Given the description of an element on the screen output the (x, y) to click on. 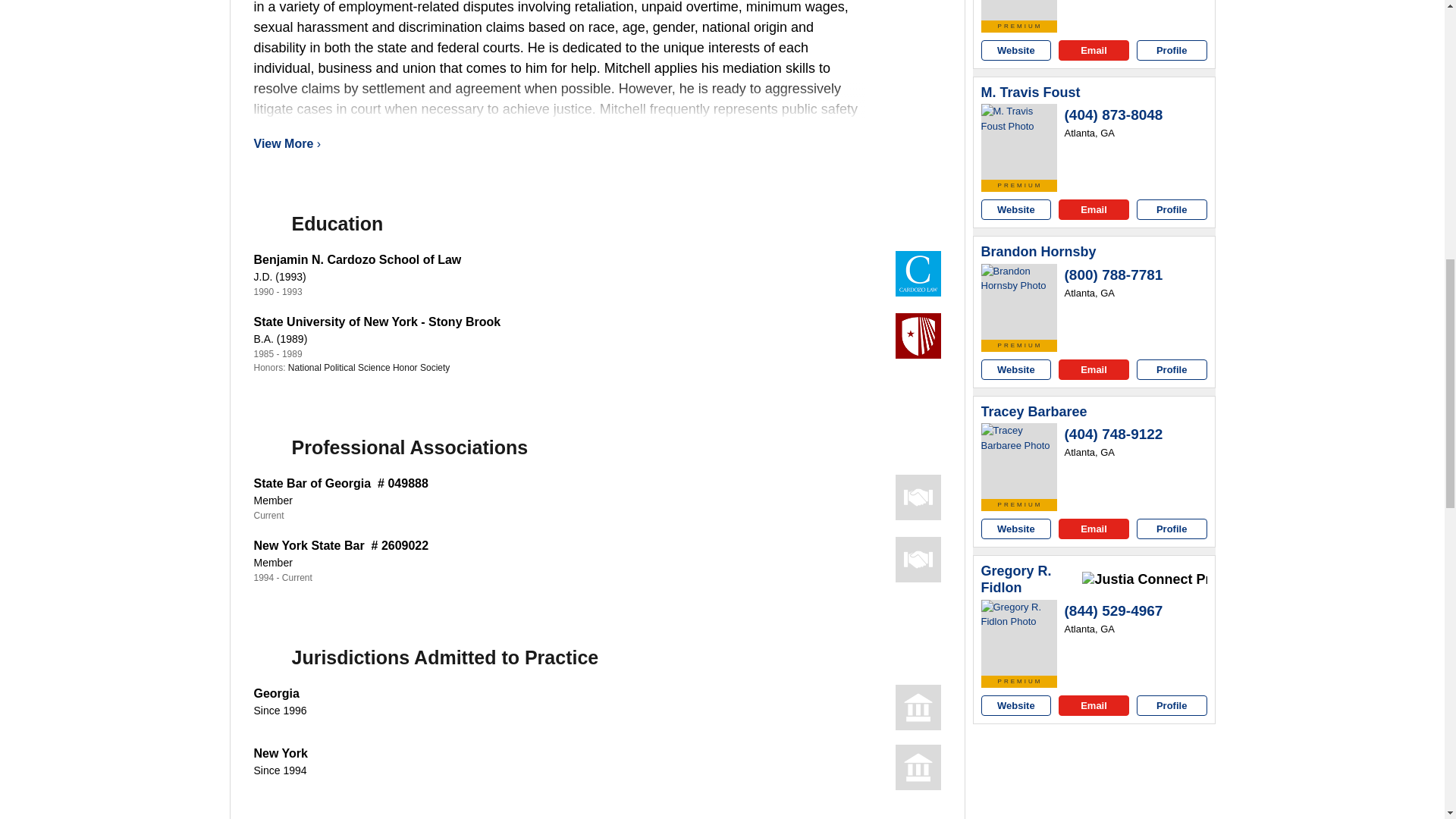
Andrew Y. Coffman (1019, 10)
